Given the description of an element on the screen output the (x, y) to click on. 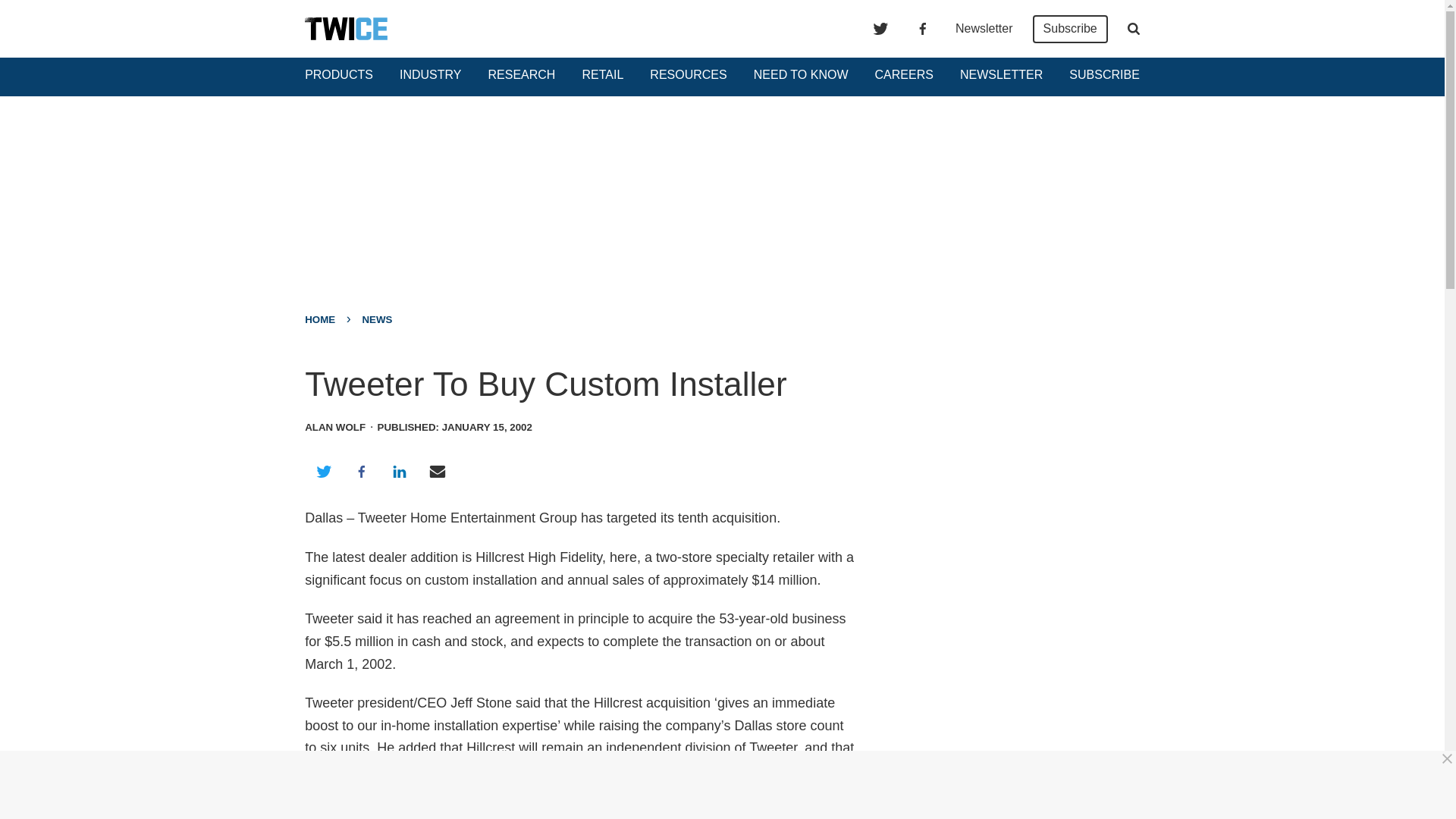
Advertisement (727, 785)
Posts by Alan Wolf (334, 427)
Share on Facebook (361, 471)
Advertisement (1005, 461)
Share via Email (438, 471)
Share on LinkedIn (399, 471)
Share on Twitter (323, 471)
